Given the description of an element on the screen output the (x, y) to click on. 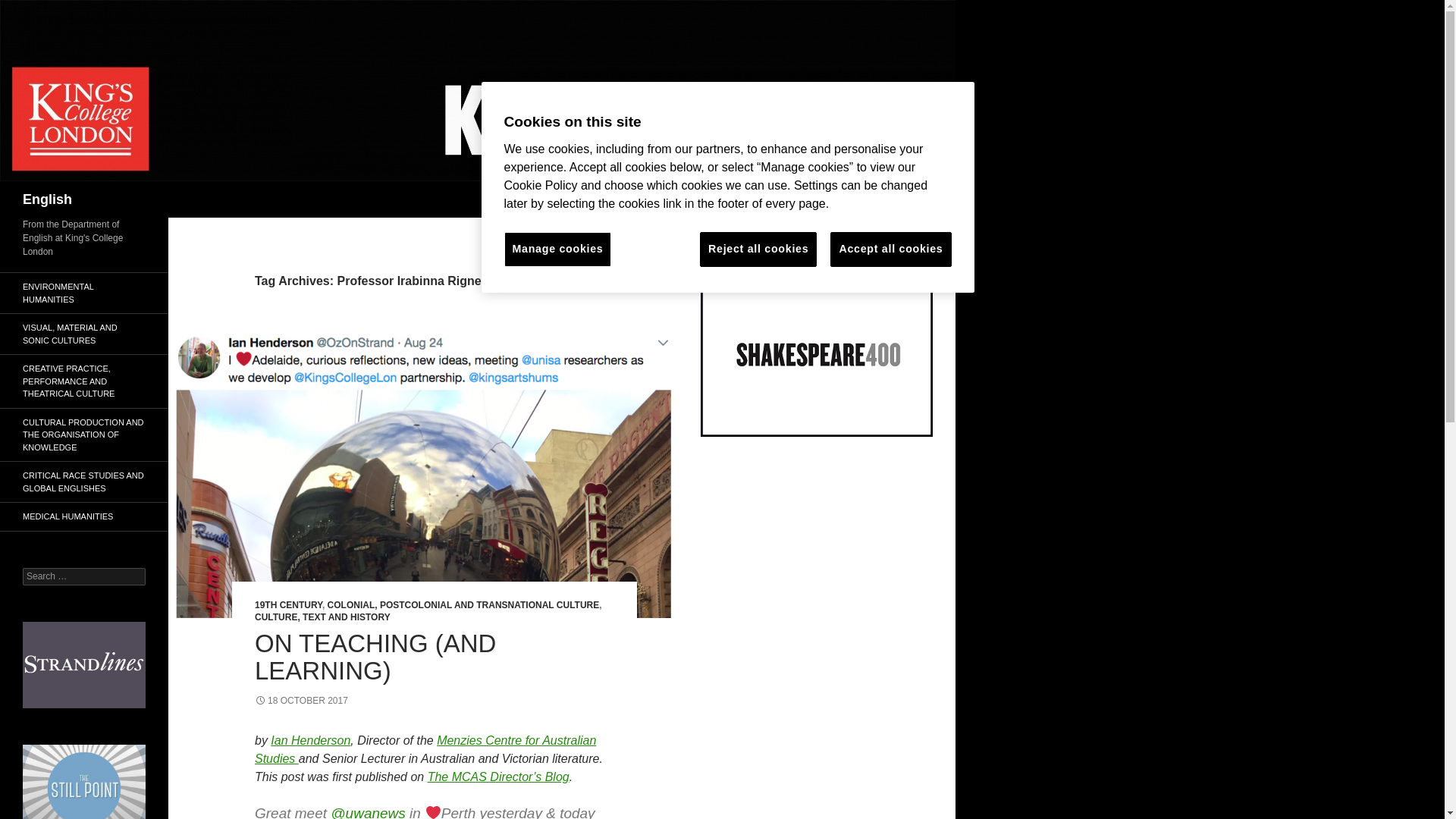
English (47, 198)
CULTURE, TEXT AND HISTORY (322, 616)
CONTRIBUTE (881, 198)
Menzies Centre for Australian Studies (424, 748)
18 OCTOBER 2017 (300, 700)
ABOUT US (554, 198)
Ian Henderson (310, 739)
19TH CENTURY (287, 604)
BROWSE BY FIELD (639, 198)
COLONIAL, POSTCOLONIAL AND TRANSNATIONAL CULTURE (463, 604)
